Given the description of an element on the screen output the (x, y) to click on. 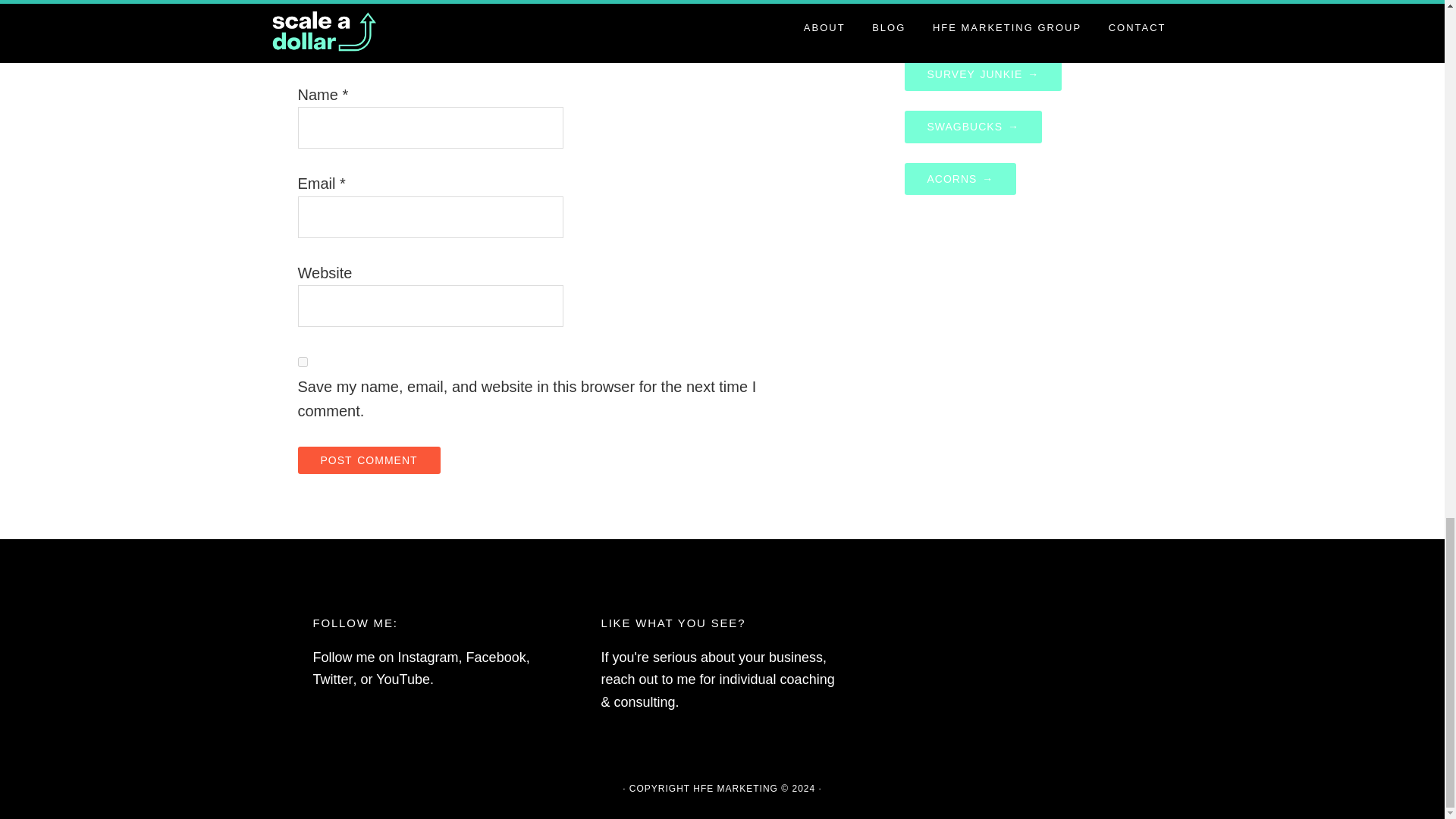
Post Comment (368, 460)
Post Comment (368, 460)
yes (302, 361)
